Given the description of an element on the screen output the (x, y) to click on. 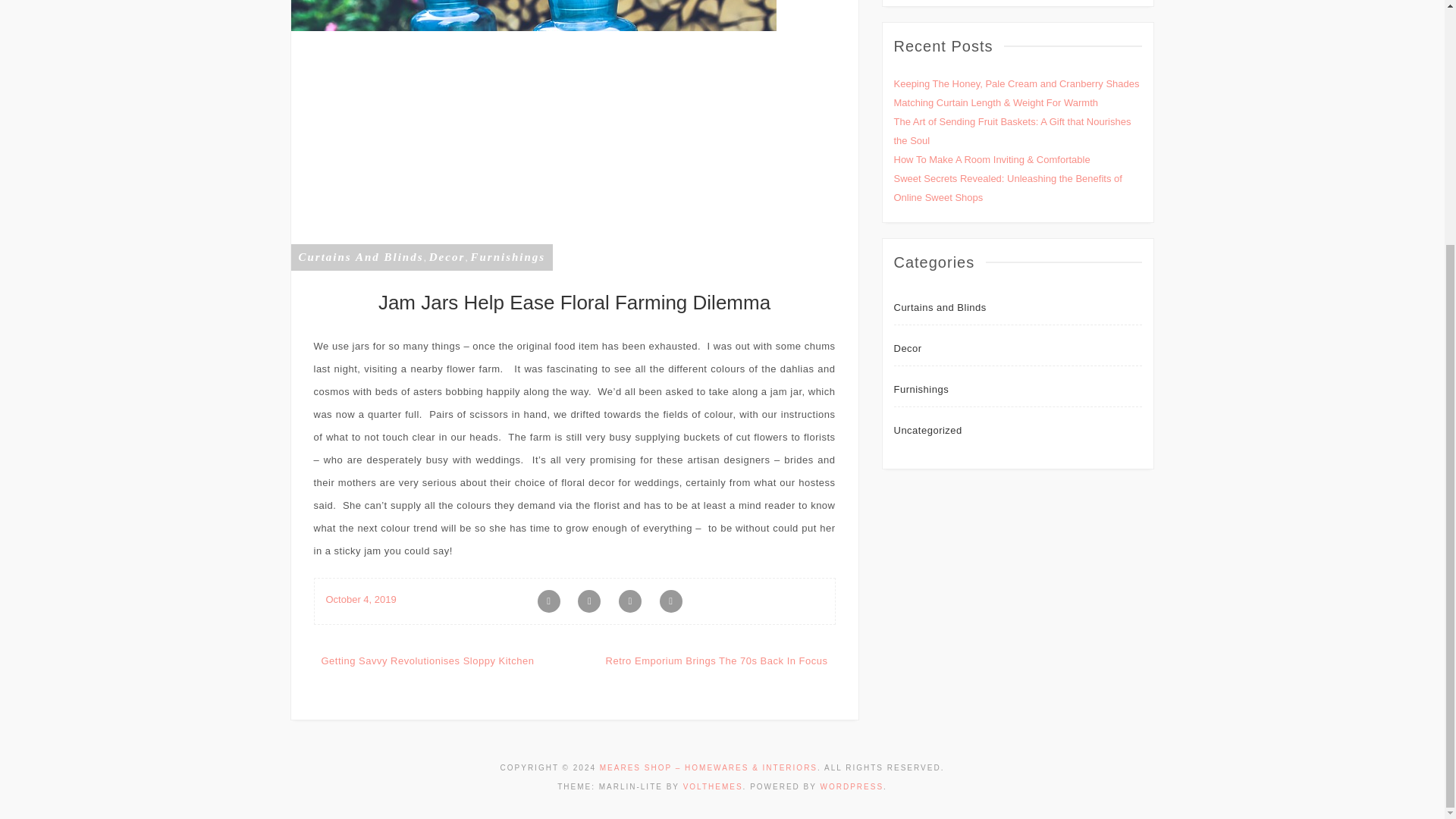
VOLTHEMES (712, 786)
Furnishings (921, 389)
Curtains and Blinds (939, 307)
Decor (447, 256)
Retro Emporium Brings The 70s Back In Focus (716, 660)
WORDPRESS (852, 786)
Furnishings (507, 256)
October 4, 2019 (361, 599)
WordPress (852, 786)
